Given the description of an element on the screen output the (x, y) to click on. 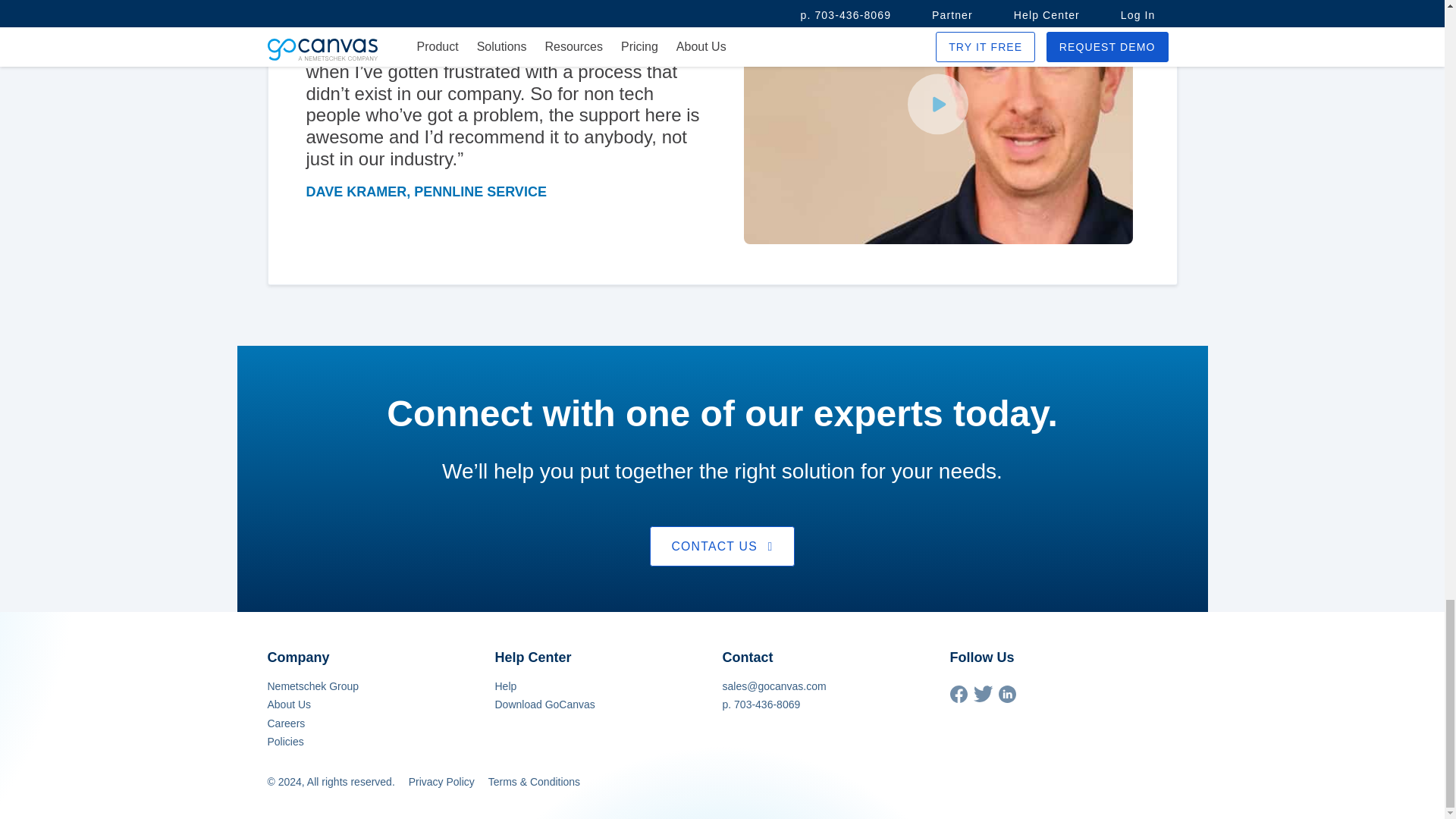
GoCanvas LinkedIn (1005, 698)
GoCanvas Twitter (982, 698)
GoCanvas Facebook (957, 698)
